Given the description of an element on the screen output the (x, y) to click on. 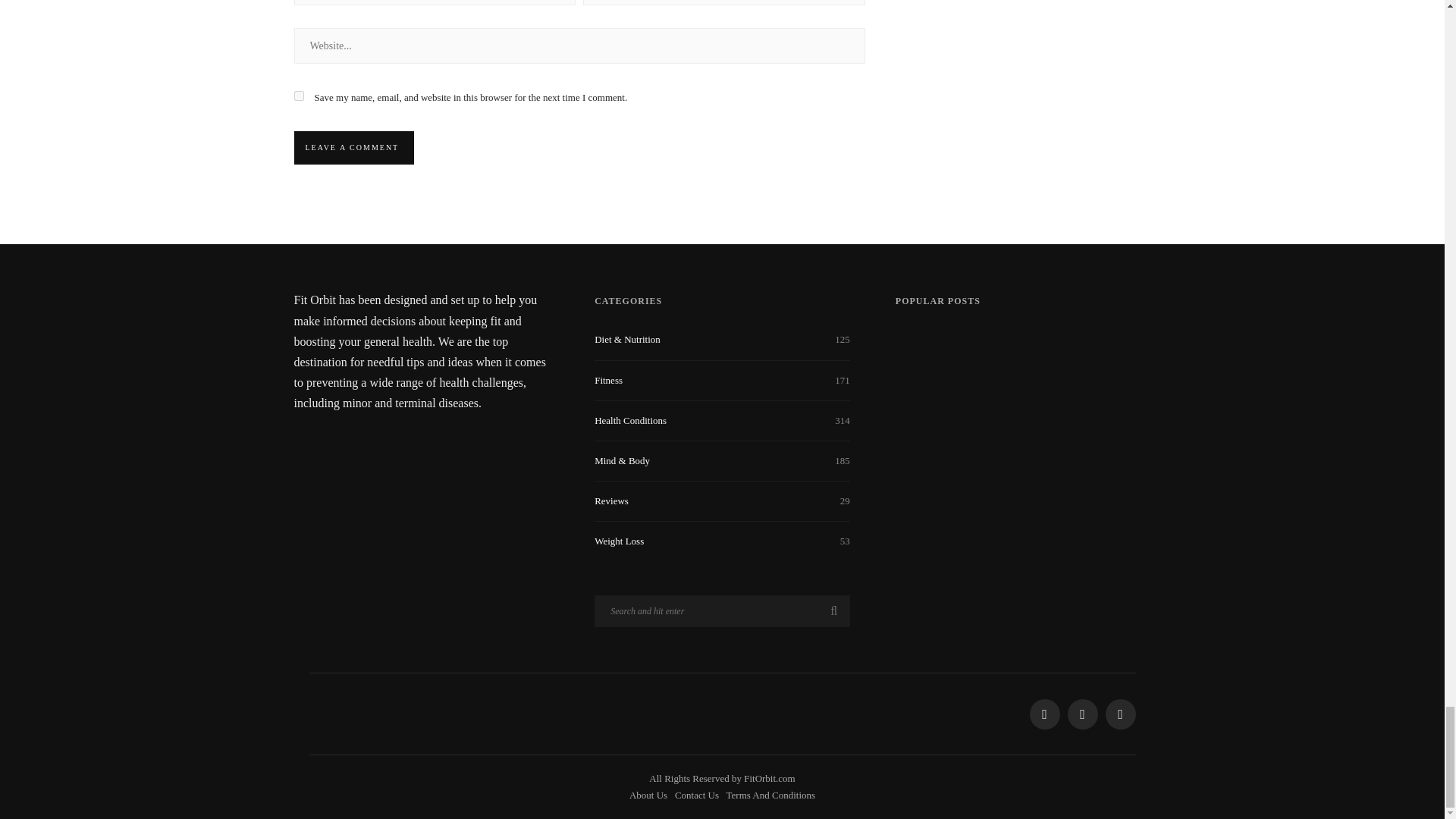
Leave a comment (351, 147)
yes (299, 95)
